Given the description of an element on the screen output the (x, y) to click on. 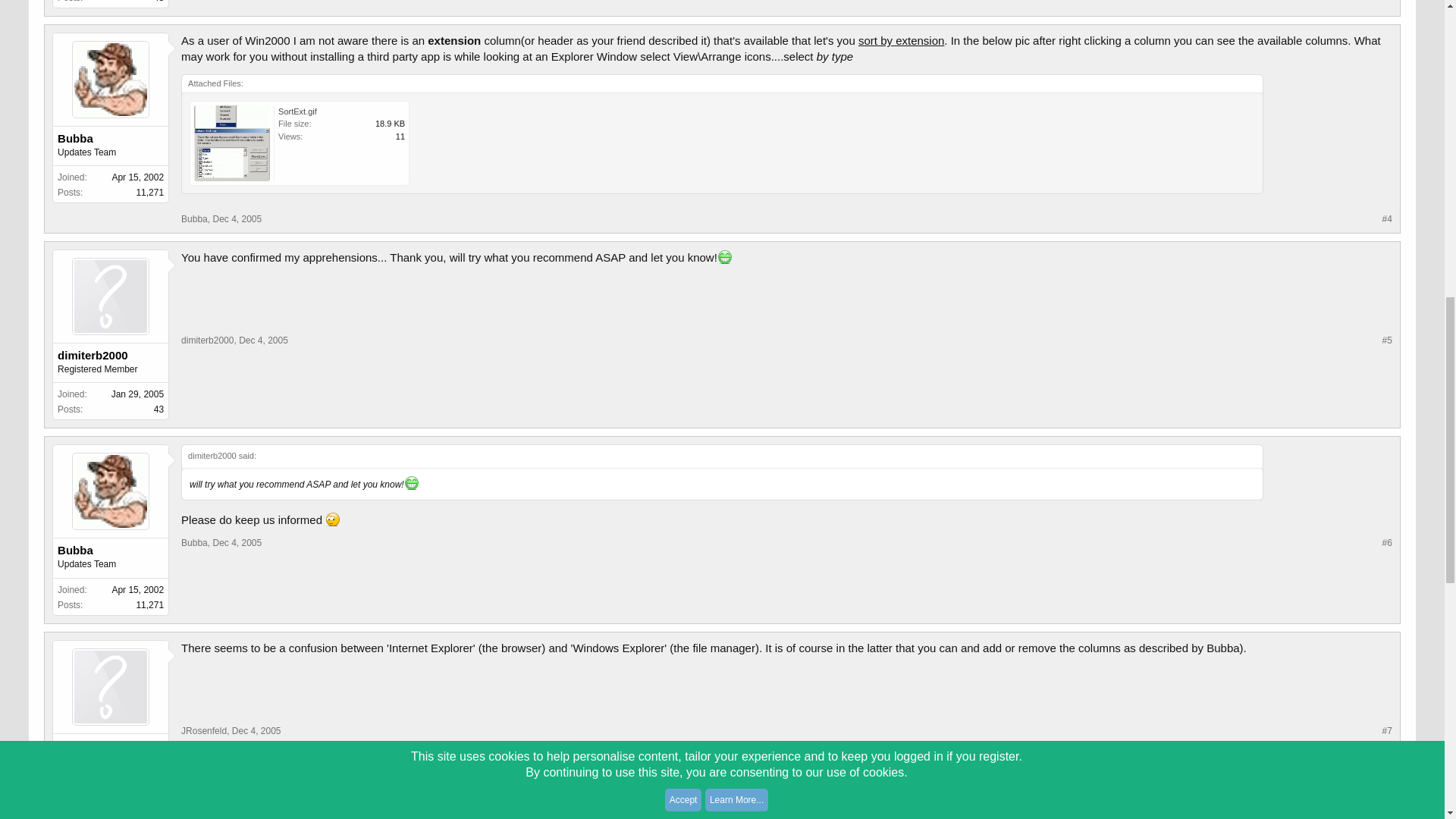
11,271 (149, 192)
Dec 4, 2005 (237, 218)
dimiterb2000 (110, 355)
Permalink (237, 218)
SortExt.gif (302, 146)
SortExt.gif (297, 111)
Bubba (194, 218)
43 (158, 409)
Bubba (110, 138)
